Given the description of an element on the screen output the (x, y) to click on. 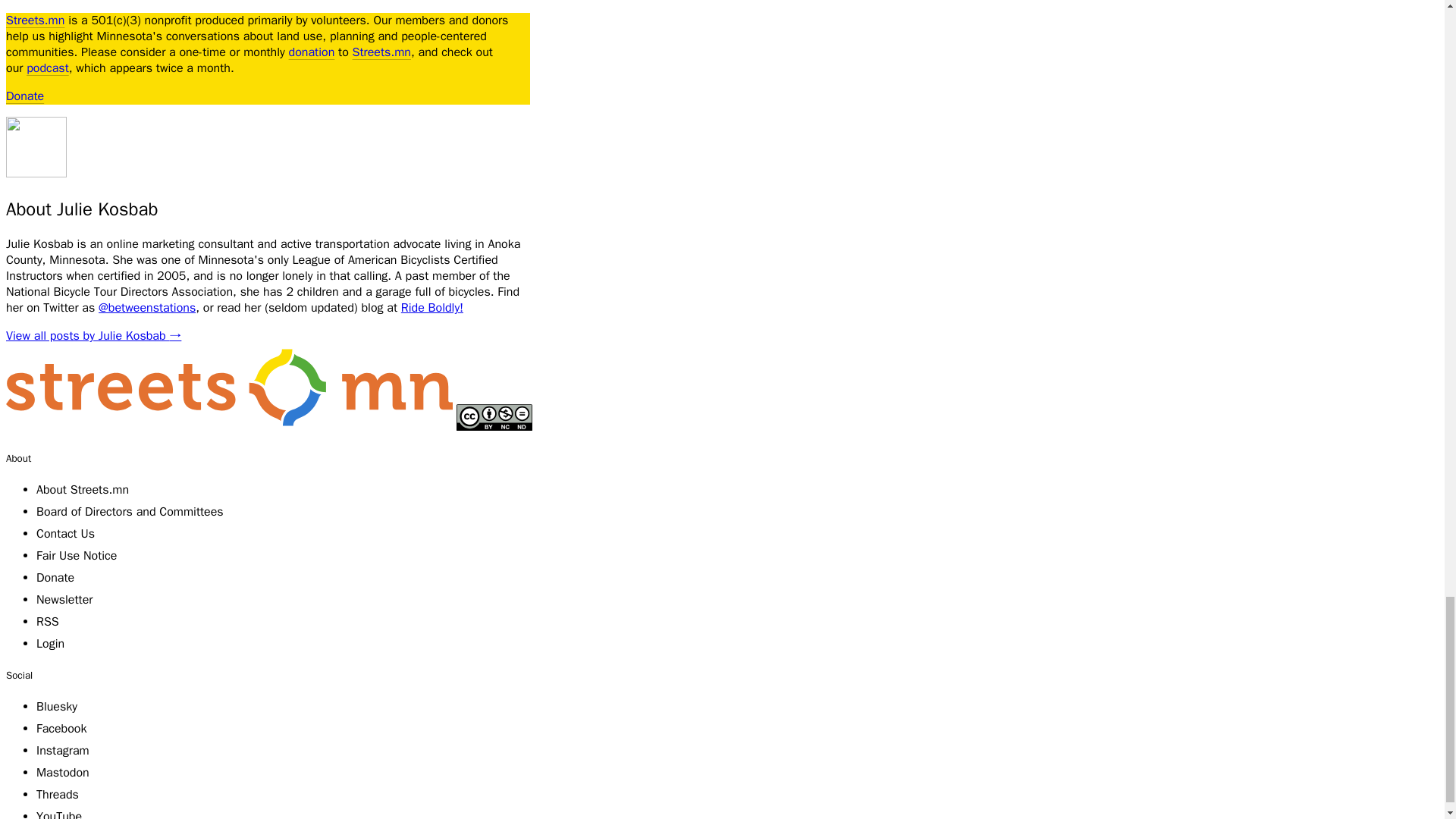
Streets.mn (228, 426)
